Given the description of an element on the screen output the (x, y) to click on. 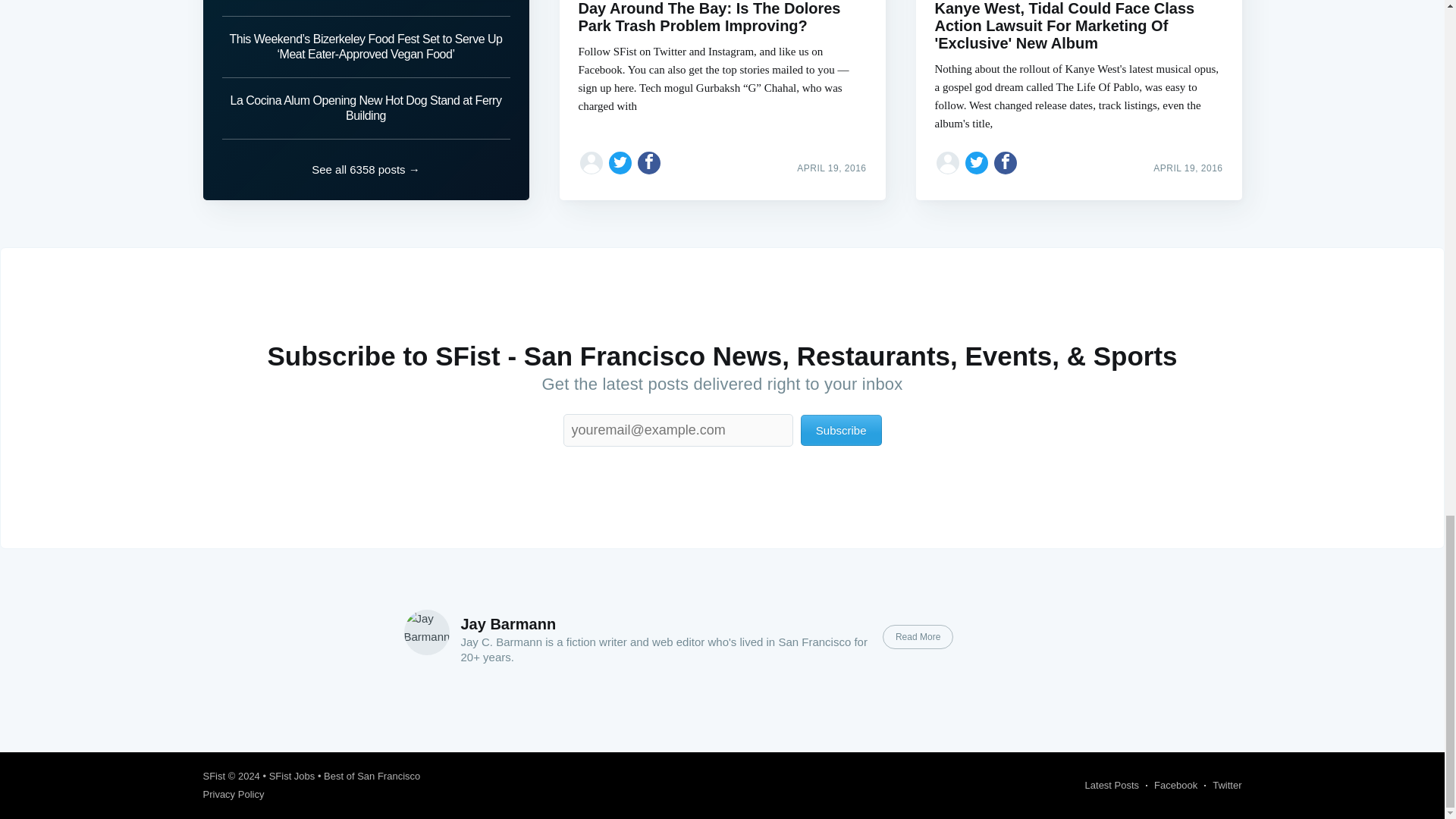
This Week In Food: The Brixton Is Back (365, 8)
La Cocina Alum Opening New Hot Dog Stand at Ferry Building (365, 108)
Share on Facebook (1004, 162)
Share on Facebook (649, 162)
Share on Twitter (620, 162)
Share on Twitter (976, 162)
